Given the description of an element on the screen output the (x, y) to click on. 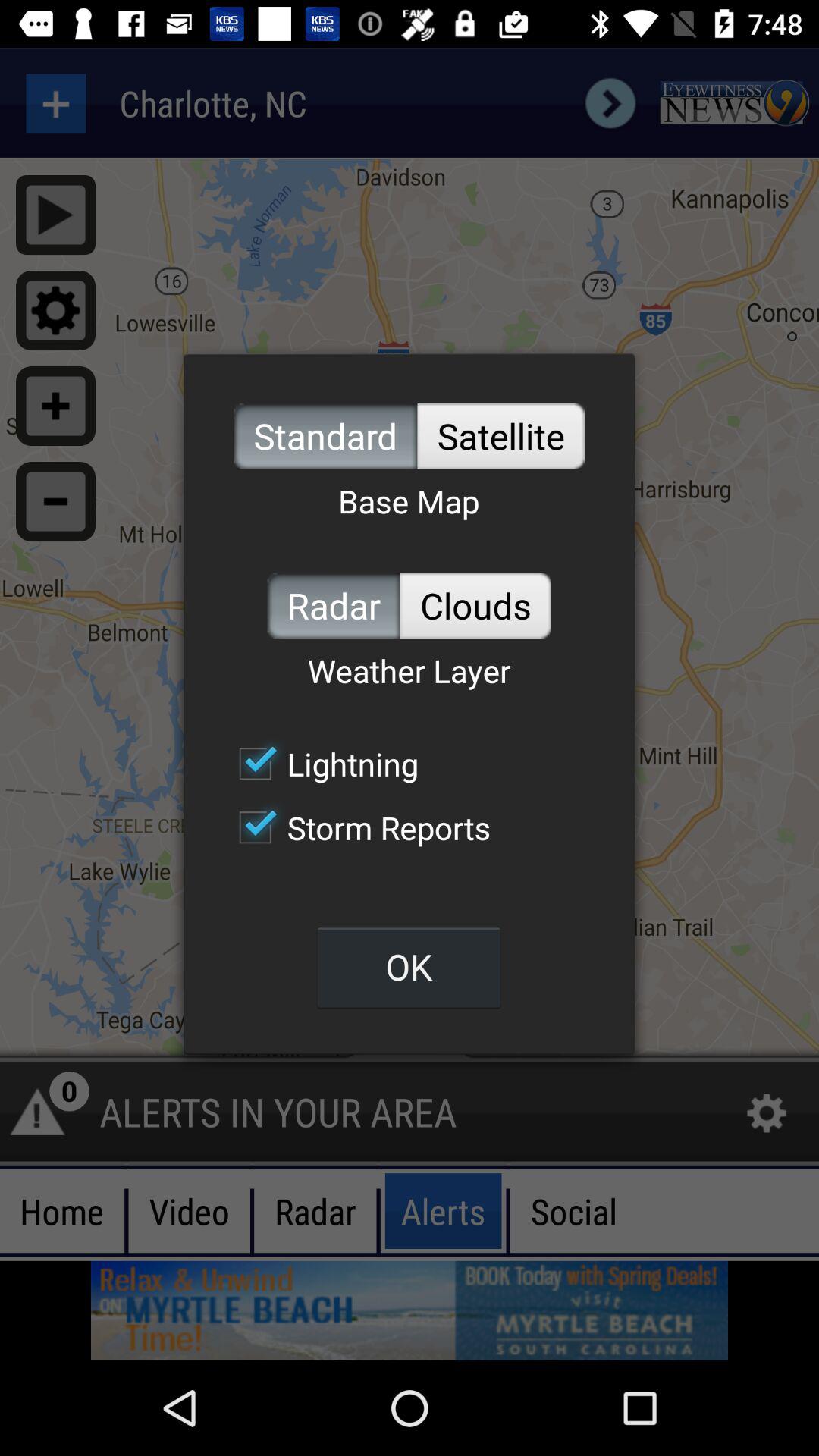
flip to the storm reports icon (356, 827)
